Given the description of an element on the screen output the (x, y) to click on. 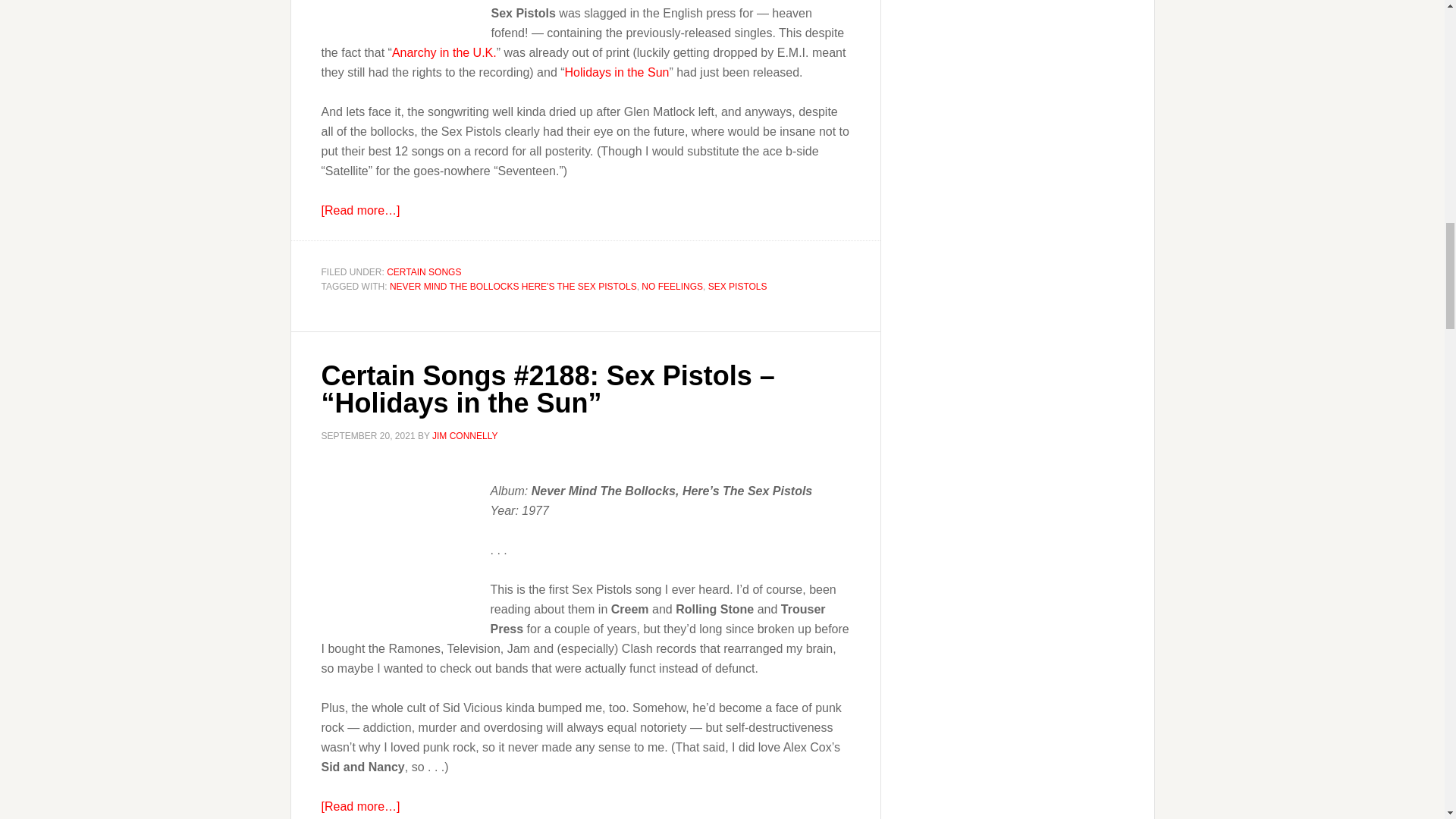
JIM CONNELLY (464, 435)
Holidays in the Sun (616, 71)
CERTAIN SONGS (424, 271)
NO FEELINGS (672, 286)
Anarchy in the U.K. (443, 51)
SEX PISTOLS (737, 286)
NEVER MIND THE BOLLOCKS HERE'S THE SEX PISTOLS (513, 286)
